Given the description of an element on the screen output the (x, y) to click on. 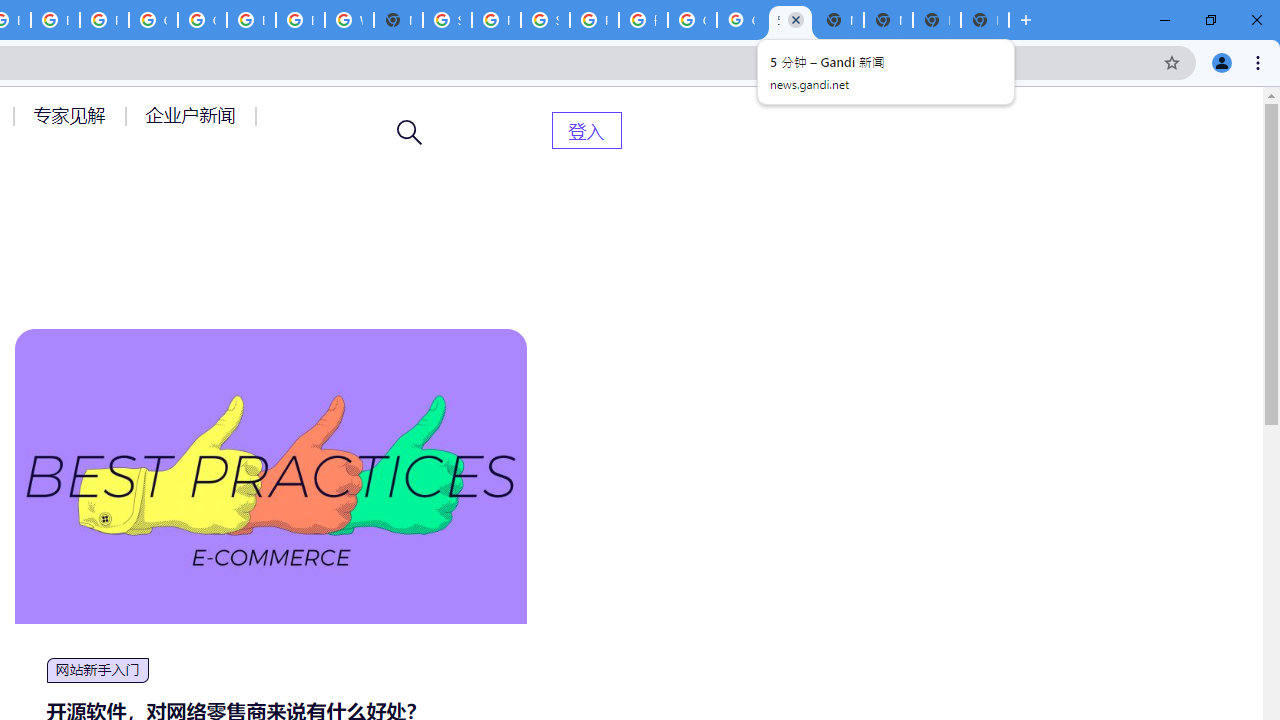
Sign in - Google Accounts (447, 20)
Browse Chrome as a guest - Computer - Google Chrome Help (251, 20)
Google Cloud Platform (153, 20)
New Tab (888, 20)
Open search form (410, 132)
AutomationID: menu-item-82399 (586, 129)
New Tab (398, 20)
